Given the description of an element on the screen output the (x, y) to click on. 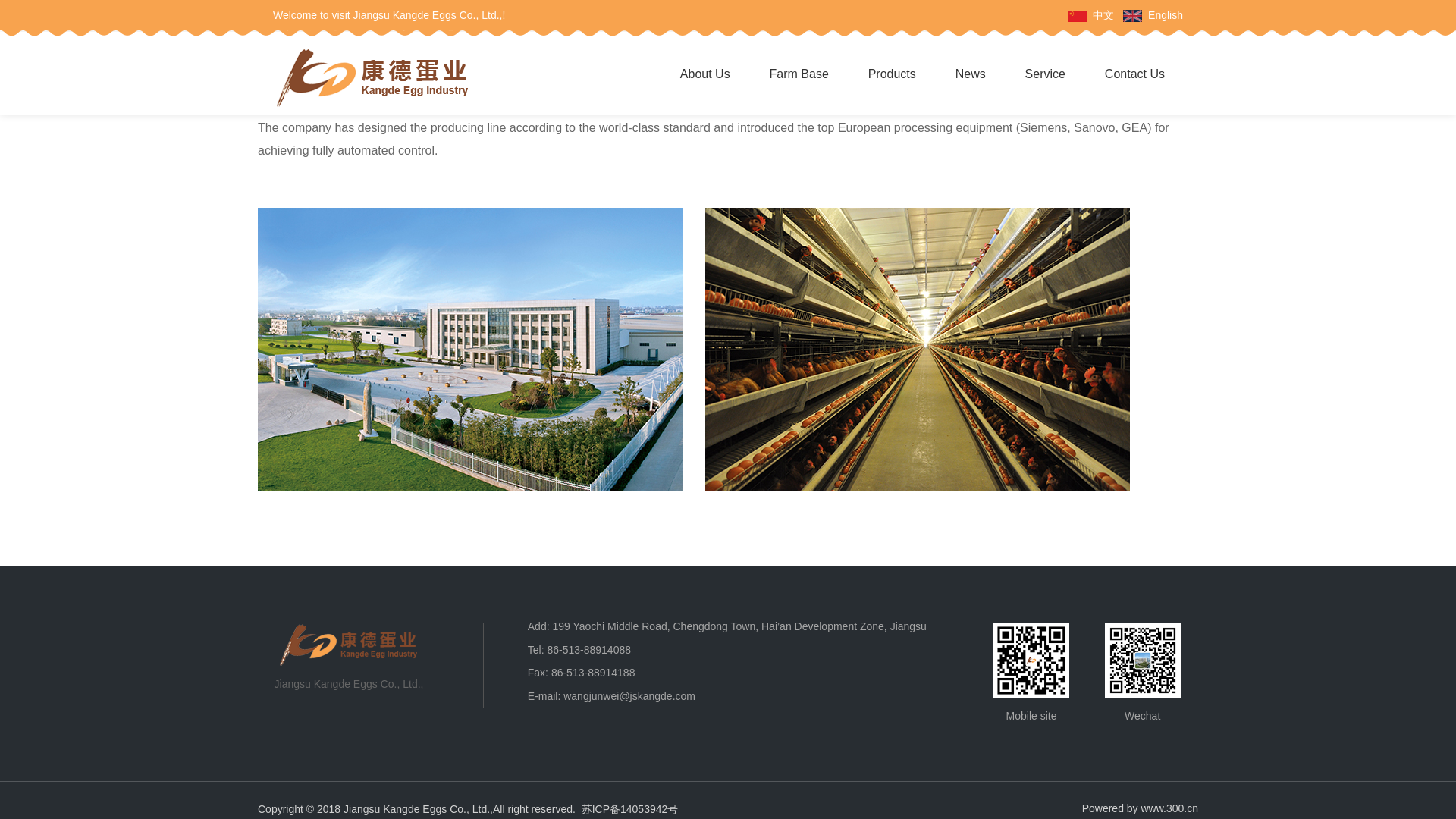
Powered by www.300.cn (1139, 808)
Wechat (1142, 660)
Jiangsu Kangde Eggs Co., Ltd., (348, 644)
86-513-88914088 (588, 649)
Mobile site (1030, 660)
